Given the description of an element on the screen output the (x, y) to click on. 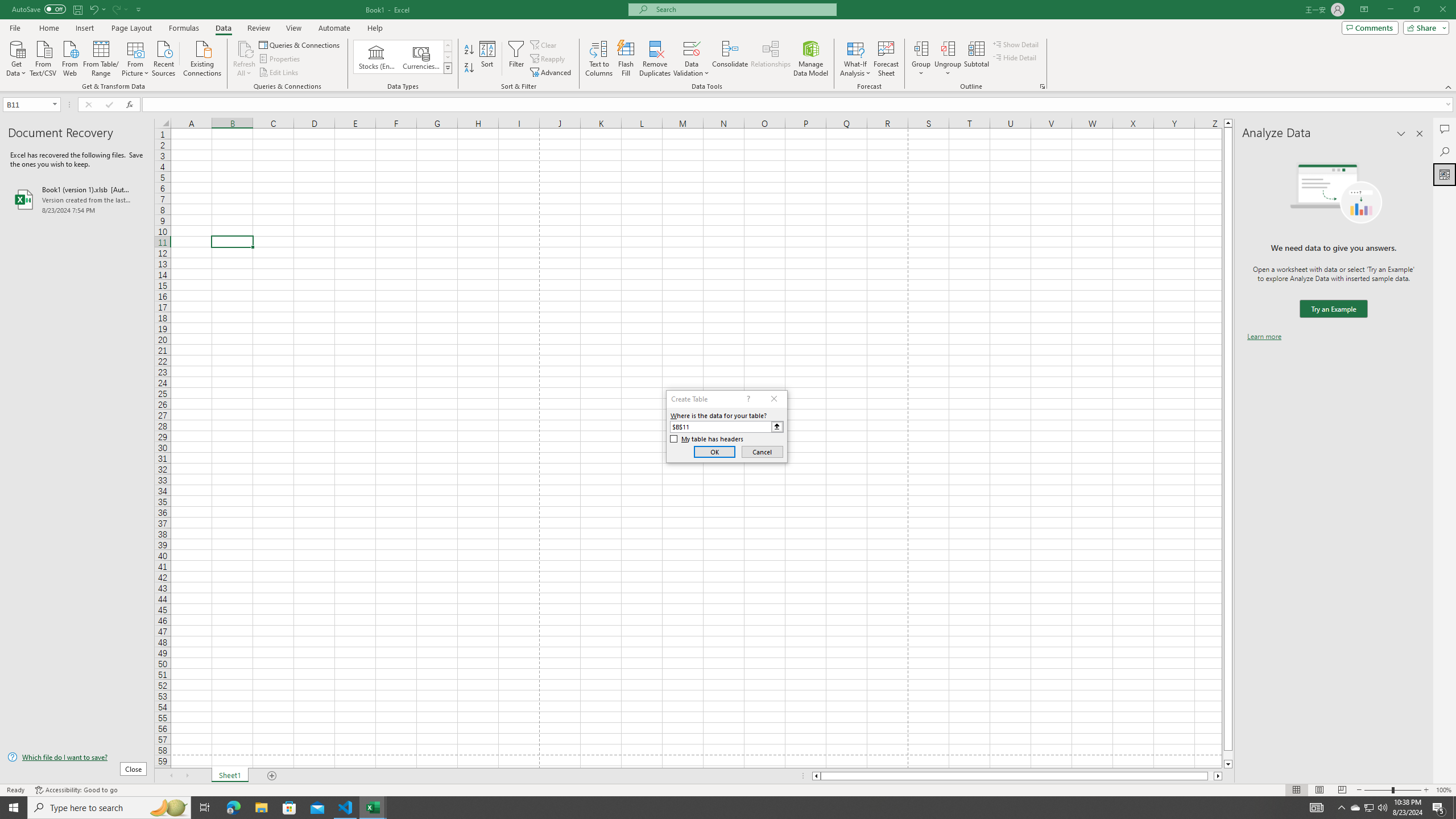
Data Validation... (691, 48)
Relationships (770, 58)
Task Pane Options (1400, 133)
Advanced... (551, 72)
Learn more (1264, 336)
Get Data (16, 57)
Existing Connections (202, 57)
Reapply (548, 58)
Sort... (487, 58)
Properties (280, 58)
